Given the description of an element on the screen output the (x, y) to click on. 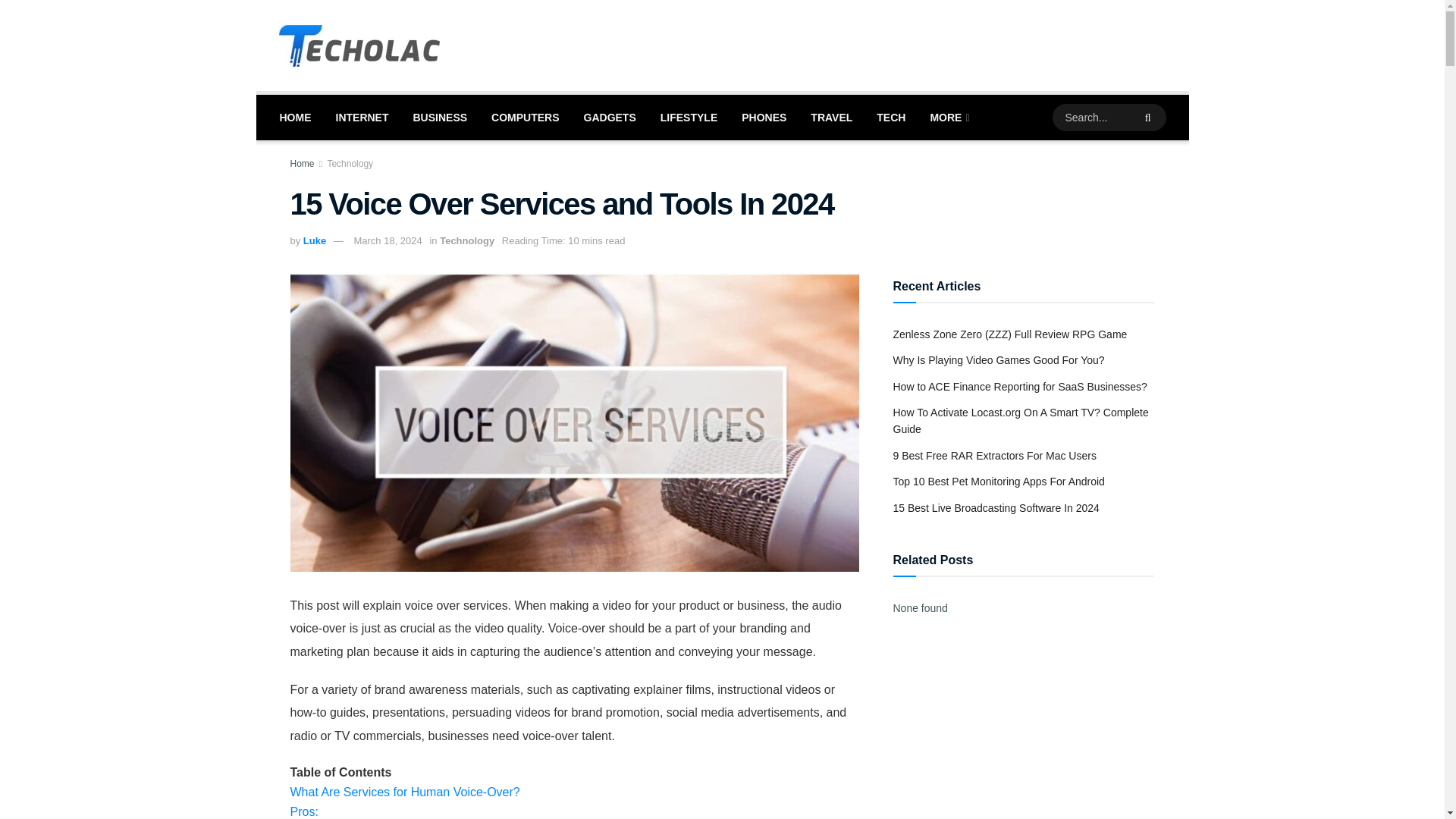
INTERNET (361, 117)
BUSINESS (439, 117)
HOME (294, 117)
COMPUTERS (524, 117)
GADGETS (609, 117)
TECH (890, 117)
LIFESTYLE (688, 117)
TRAVEL (830, 117)
PHONES (763, 117)
MORE (947, 117)
